Given the description of an element on the screen output the (x, y) to click on. 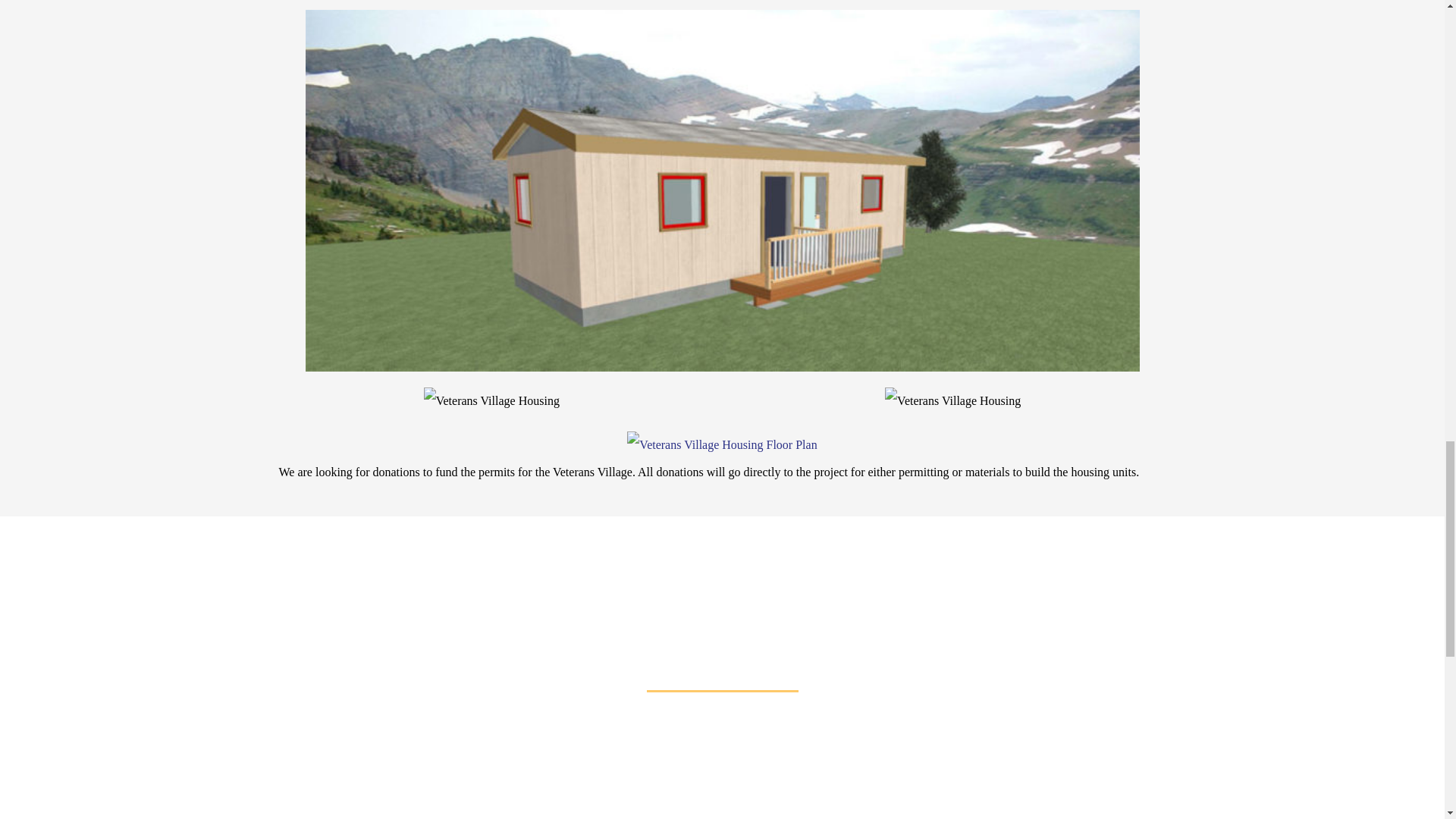
Veterans Village Housing (952, 400)
Veterans Village Housing (491, 400)
Floor Plan Duplex3 (721, 444)
